Given the description of an element on the screen output the (x, y) to click on. 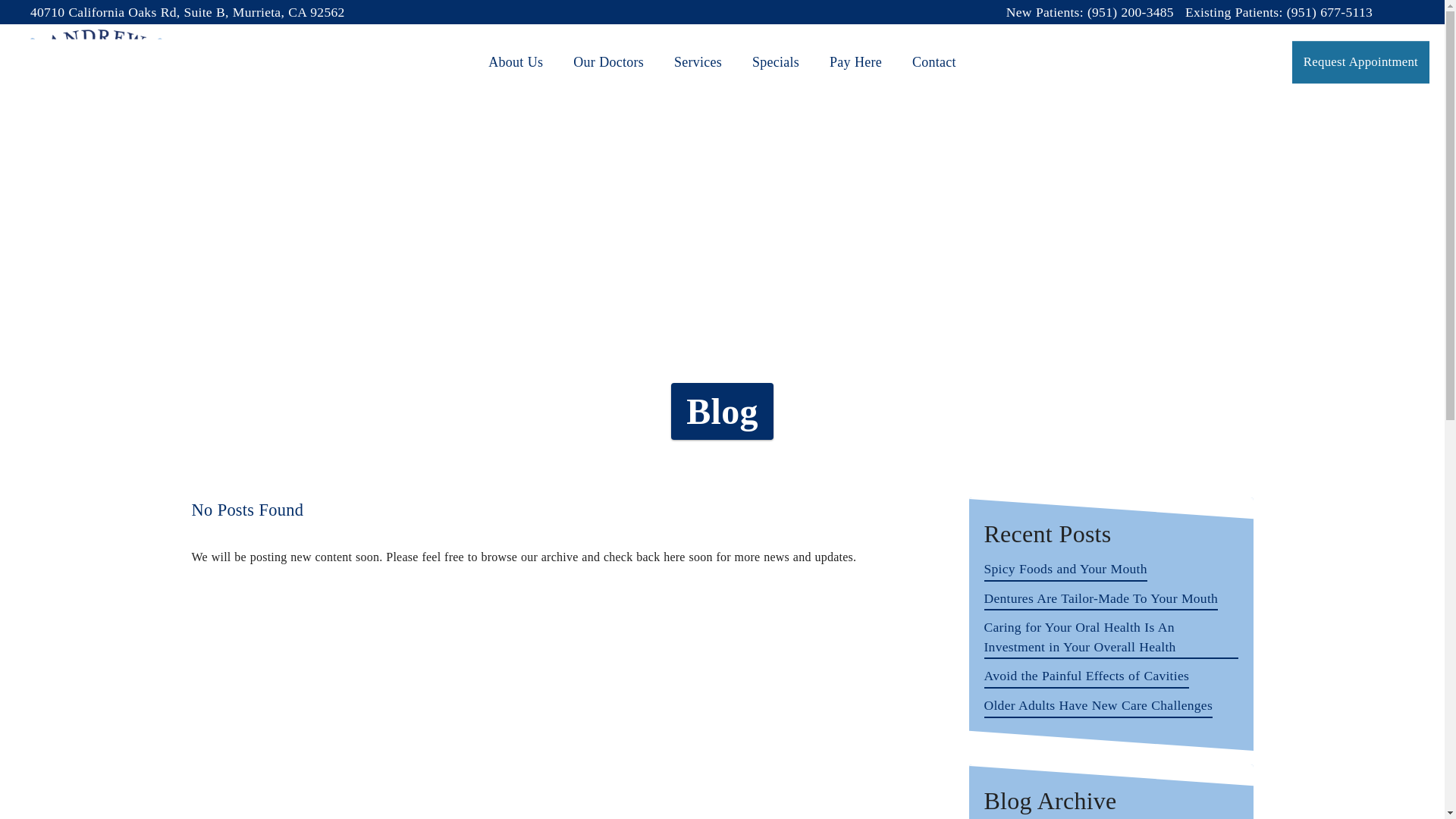
40710 California Oaks Rd, Suite B, Murrieta, CA 92562 (187, 12)
Our Doctors (608, 61)
About Us (515, 61)
